Given the description of an element on the screen output the (x, y) to click on. 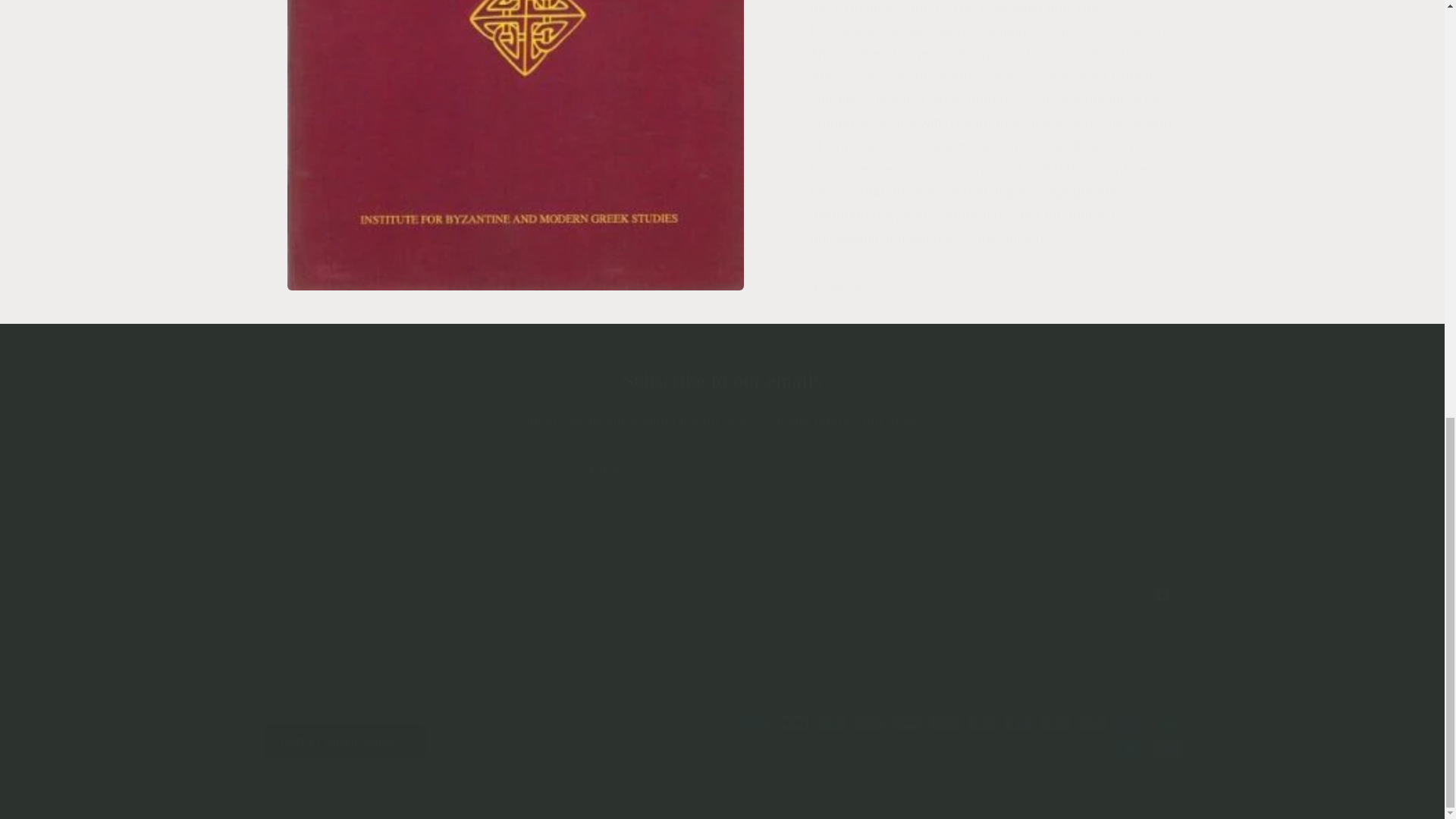
Subscribe to our emails (722, 380)
Email (722, 468)
Open media 1 in modal (515, 29)
Facebook (721, 593)
